Given the description of an element on the screen output the (x, y) to click on. 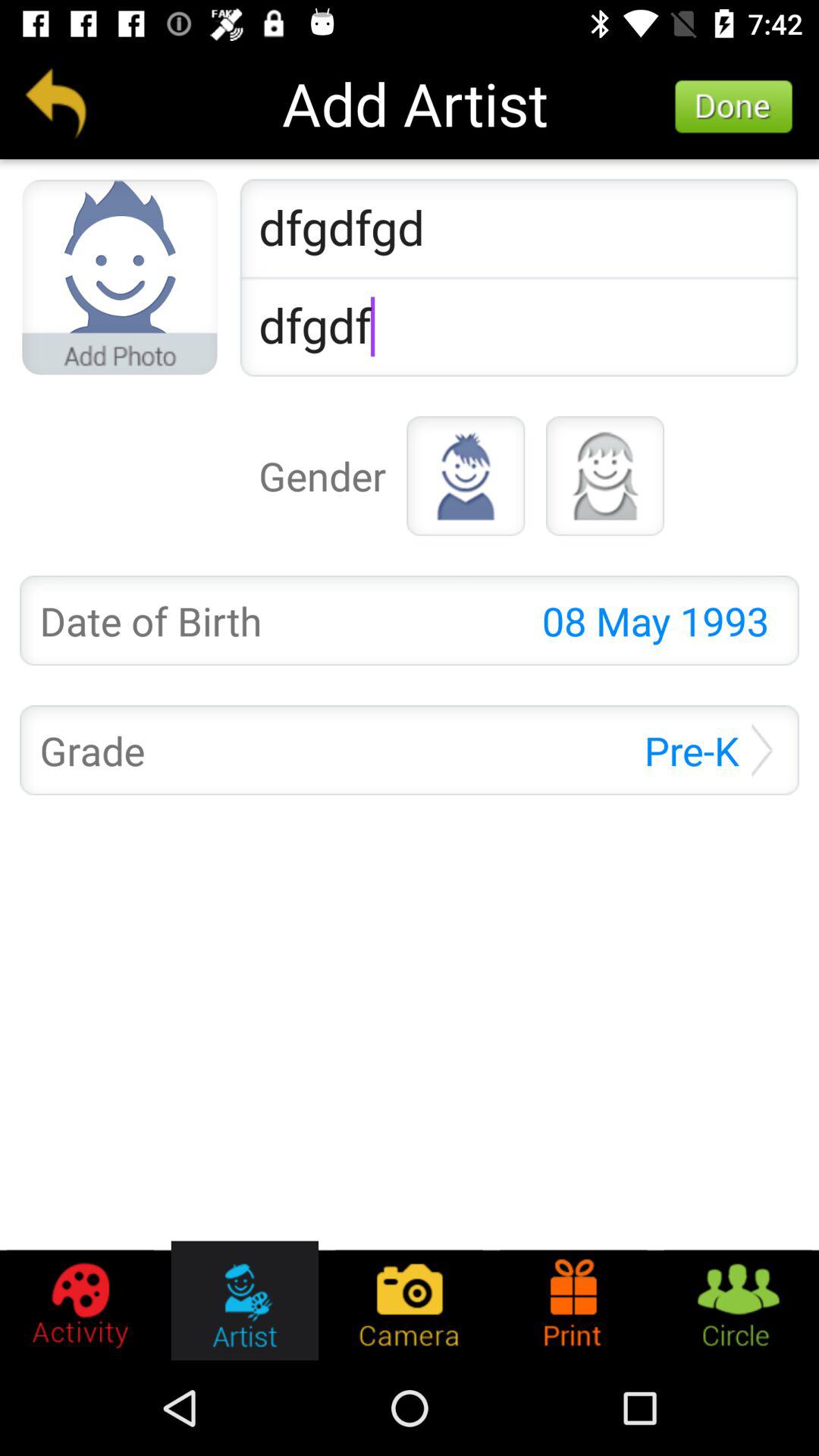
click item next to the add artist (734, 107)
